Given the description of an element on the screen output the (x, y) to click on. 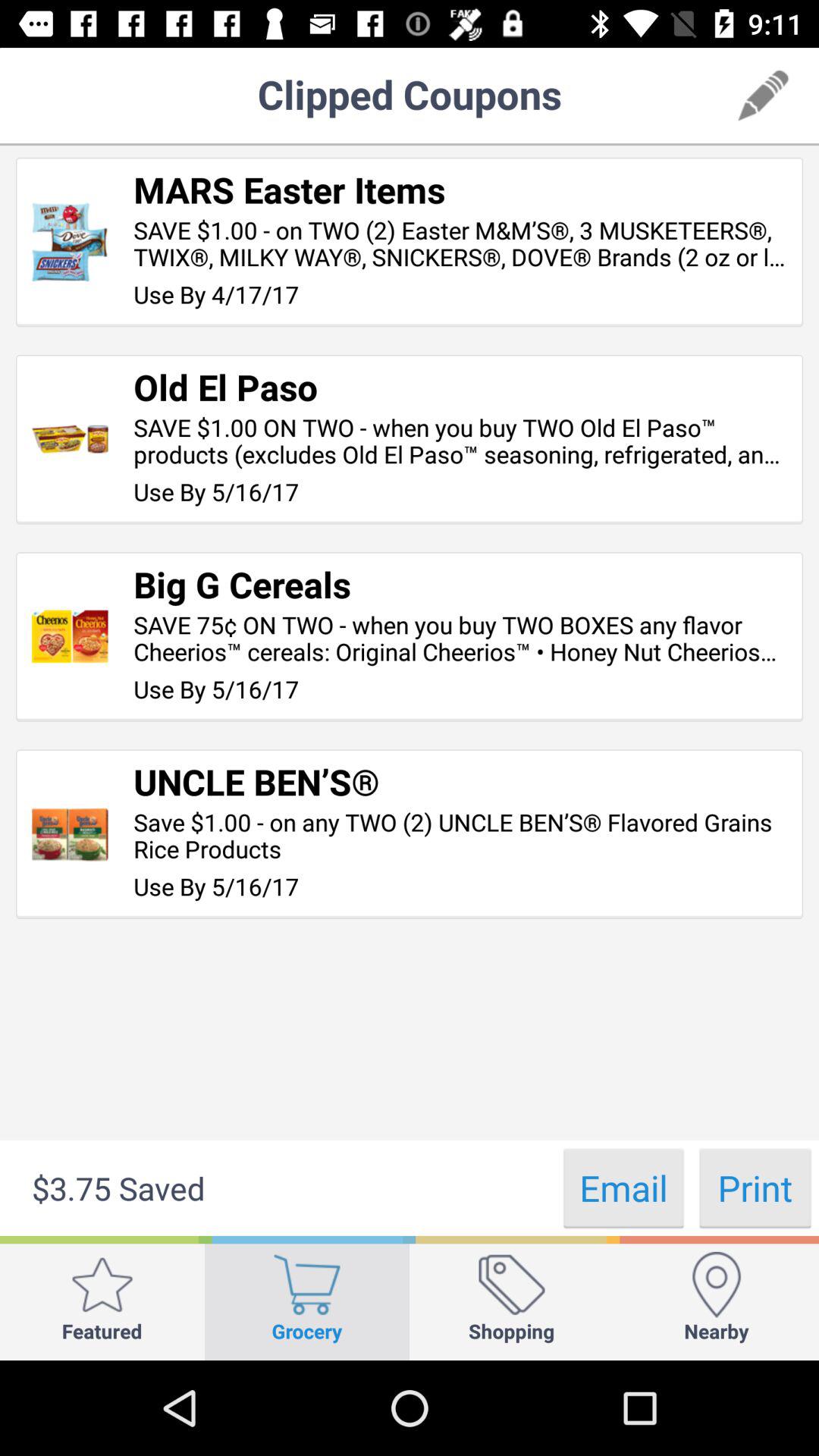
flip to the print icon (755, 1187)
